Given the description of an element on the screen output the (x, y) to click on. 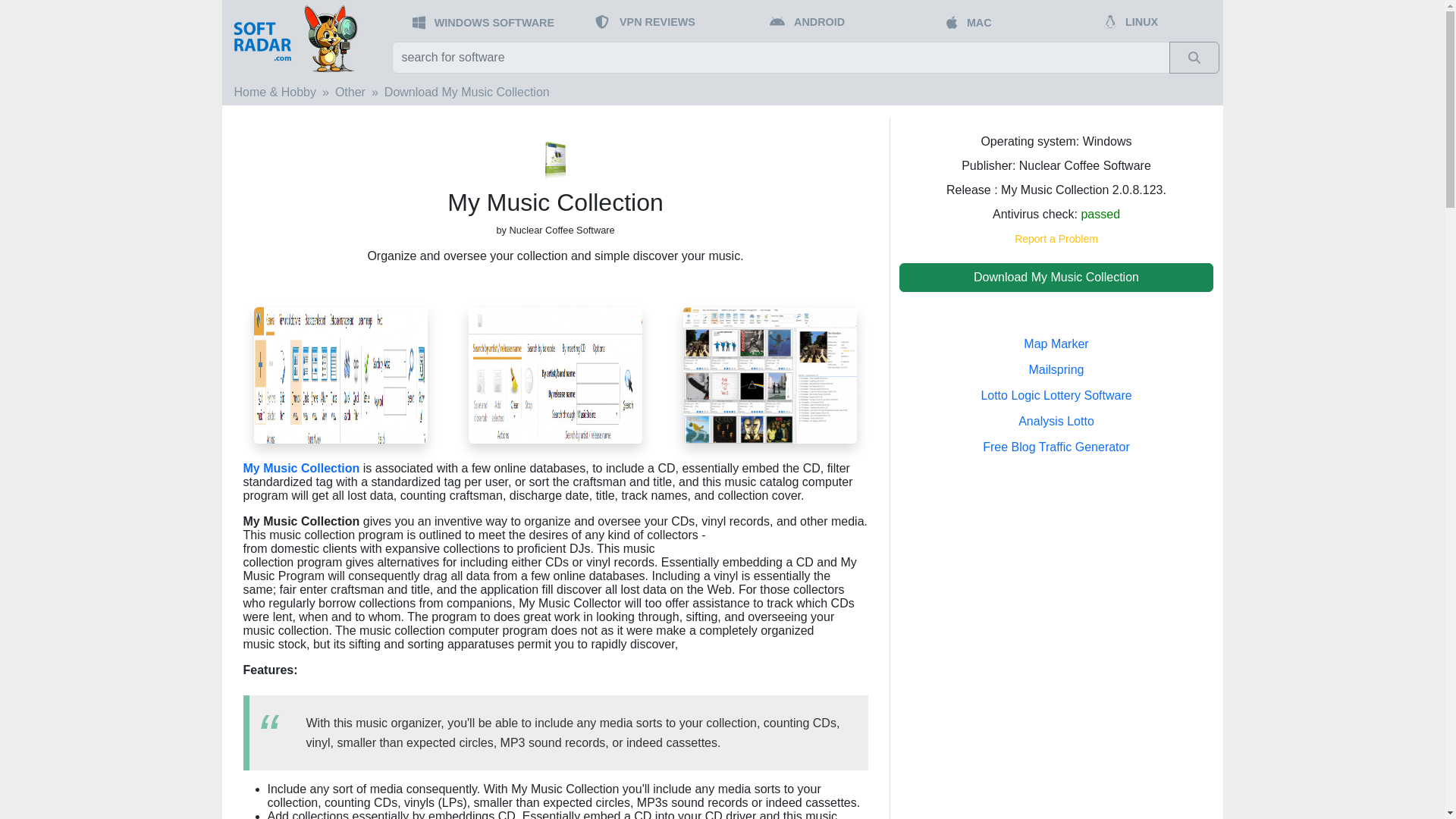
Other (349, 91)
My Music Collection screenshot 1 (769, 373)
Analysis Lotto (1055, 420)
Mailspring (1056, 369)
Download My Music Collection (467, 91)
My Music Collection screenshot 2 (555, 373)
Map Marker (1055, 343)
Search (1194, 57)
VPN REVIEWS (657, 21)
Lotto Logic Lottery Software (1055, 395)
